Given the description of an element on the screen output the (x, y) to click on. 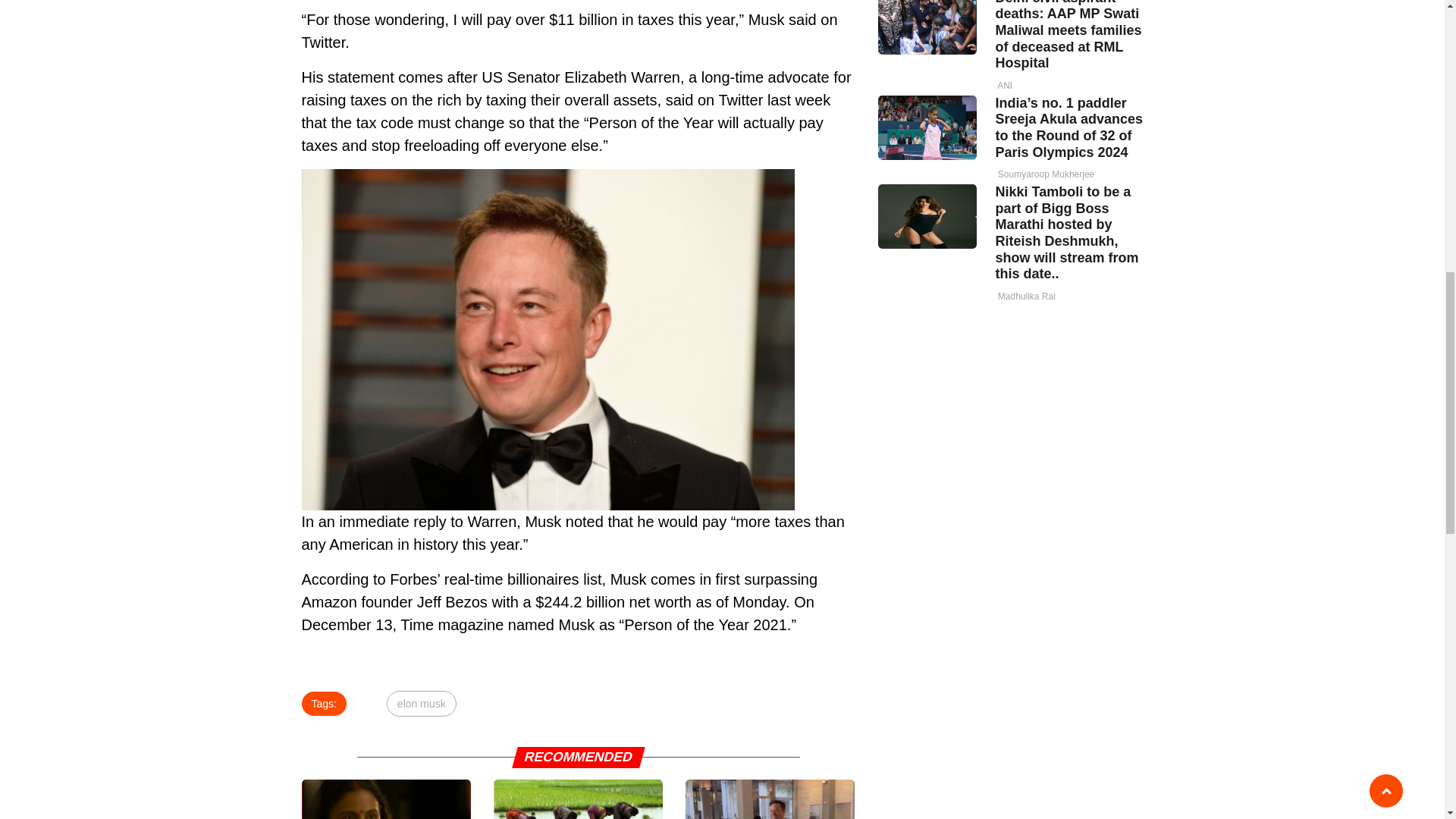
elon musk (422, 703)
